Given the description of an element on the screen output the (x, y) to click on. 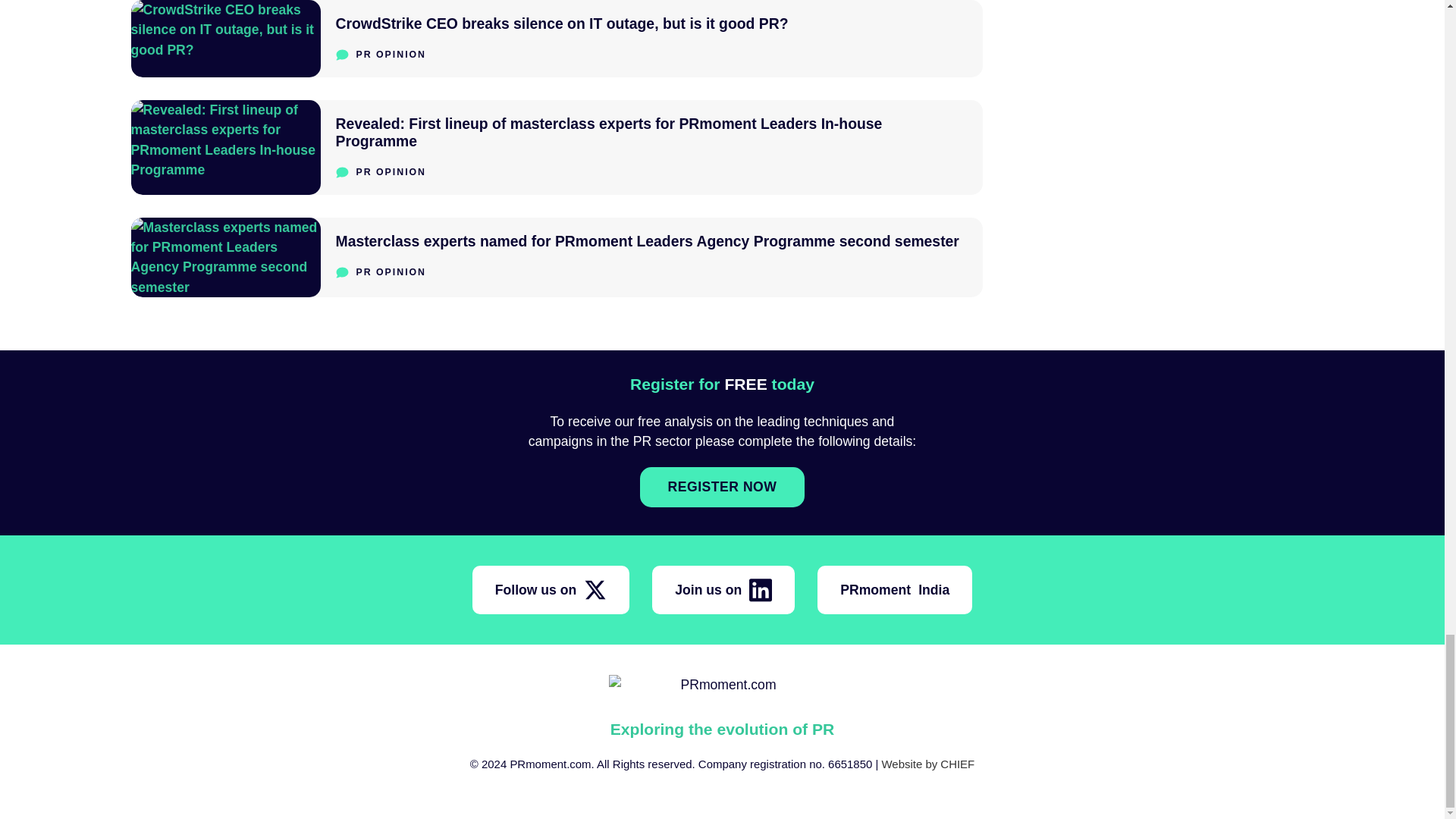
REGISTER NOW (722, 486)
Follow us on (550, 589)
Join us on (723, 589)
